Given the description of an element on the screen output the (x, y) to click on. 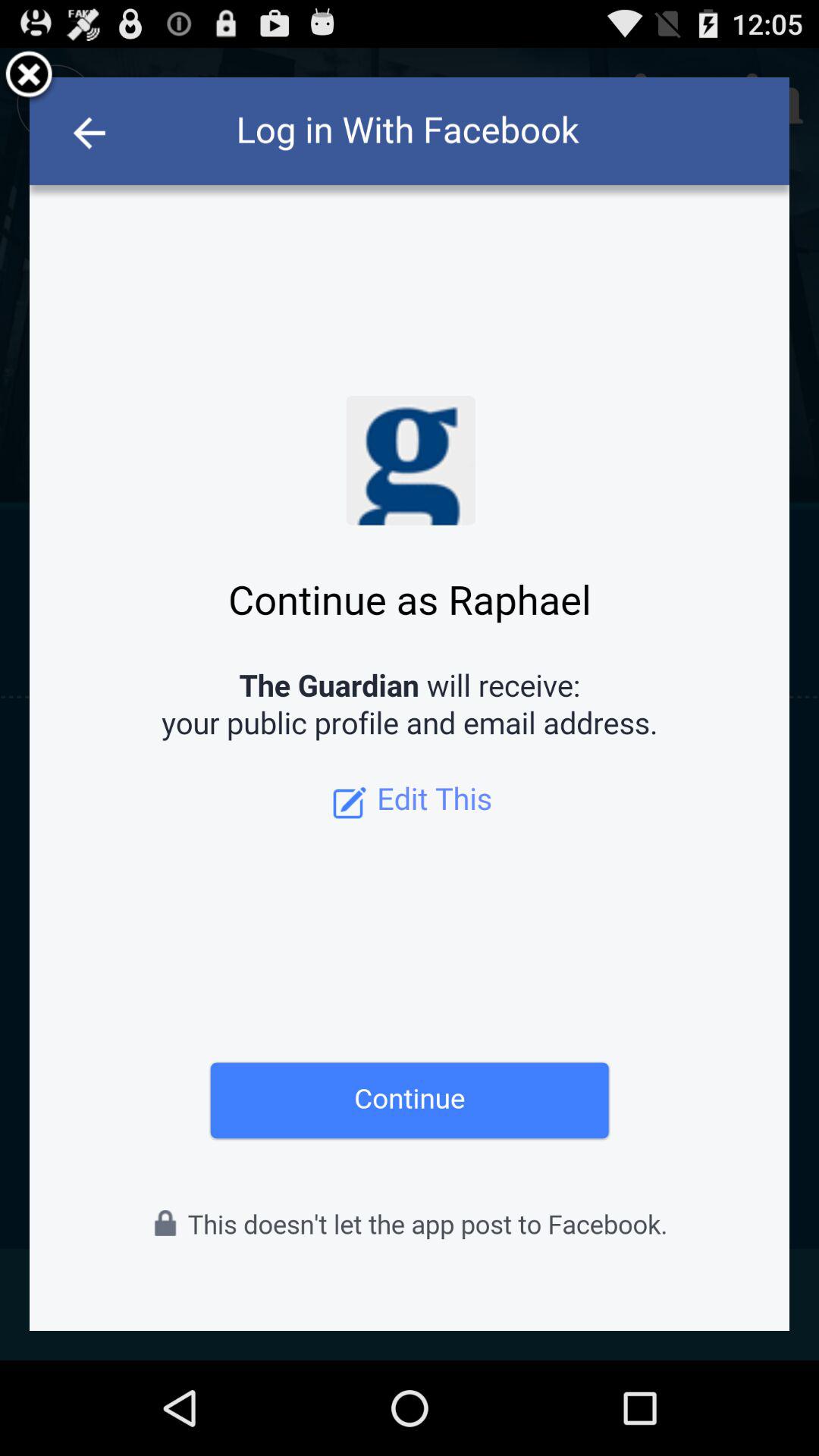
close page (29, 76)
